Given the description of an element on the screen output the (x, y) to click on. 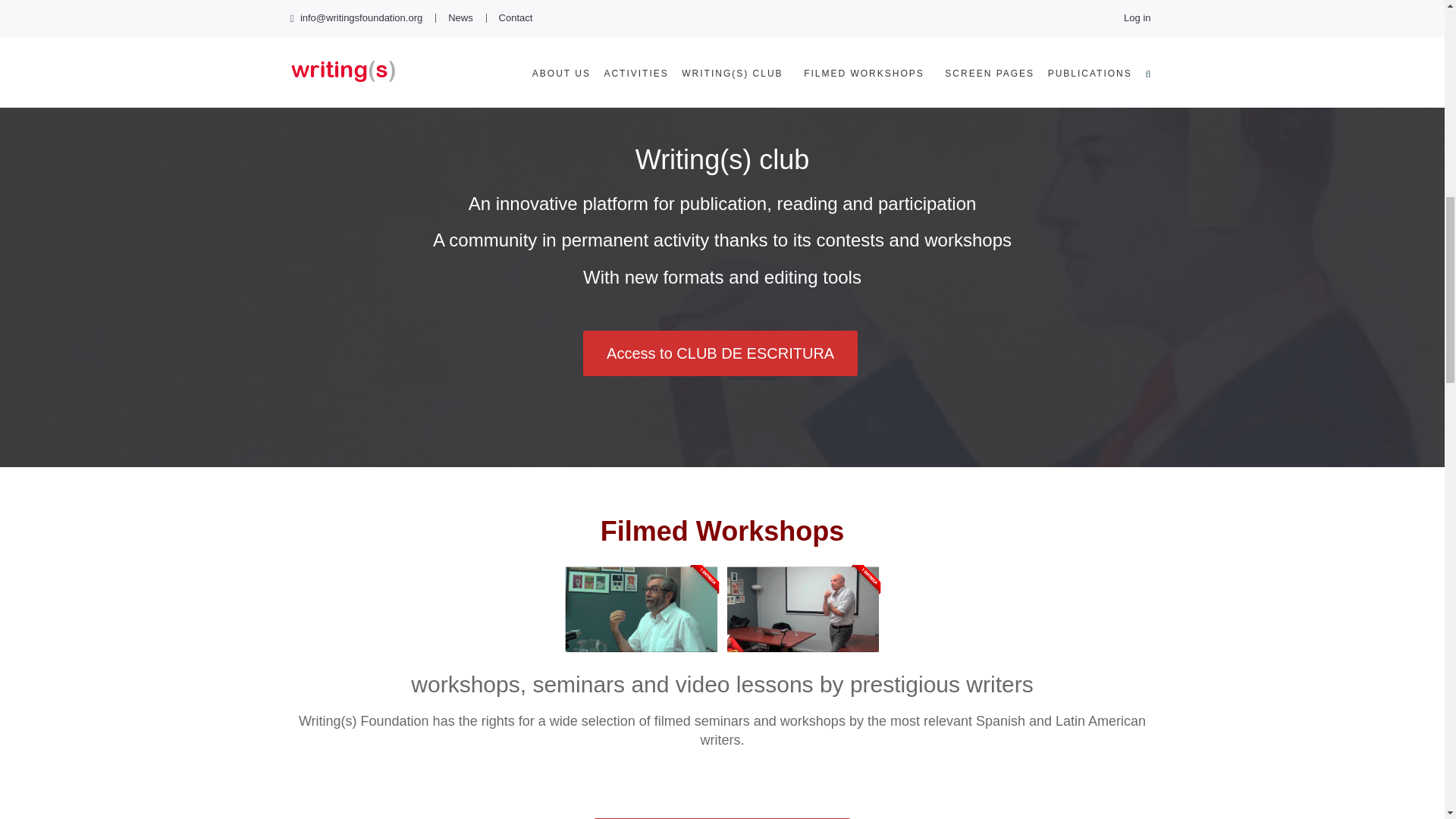
Access to CLUB DE ESCRITURA (720, 352)
